Given the description of an element on the screen output the (x, y) to click on. 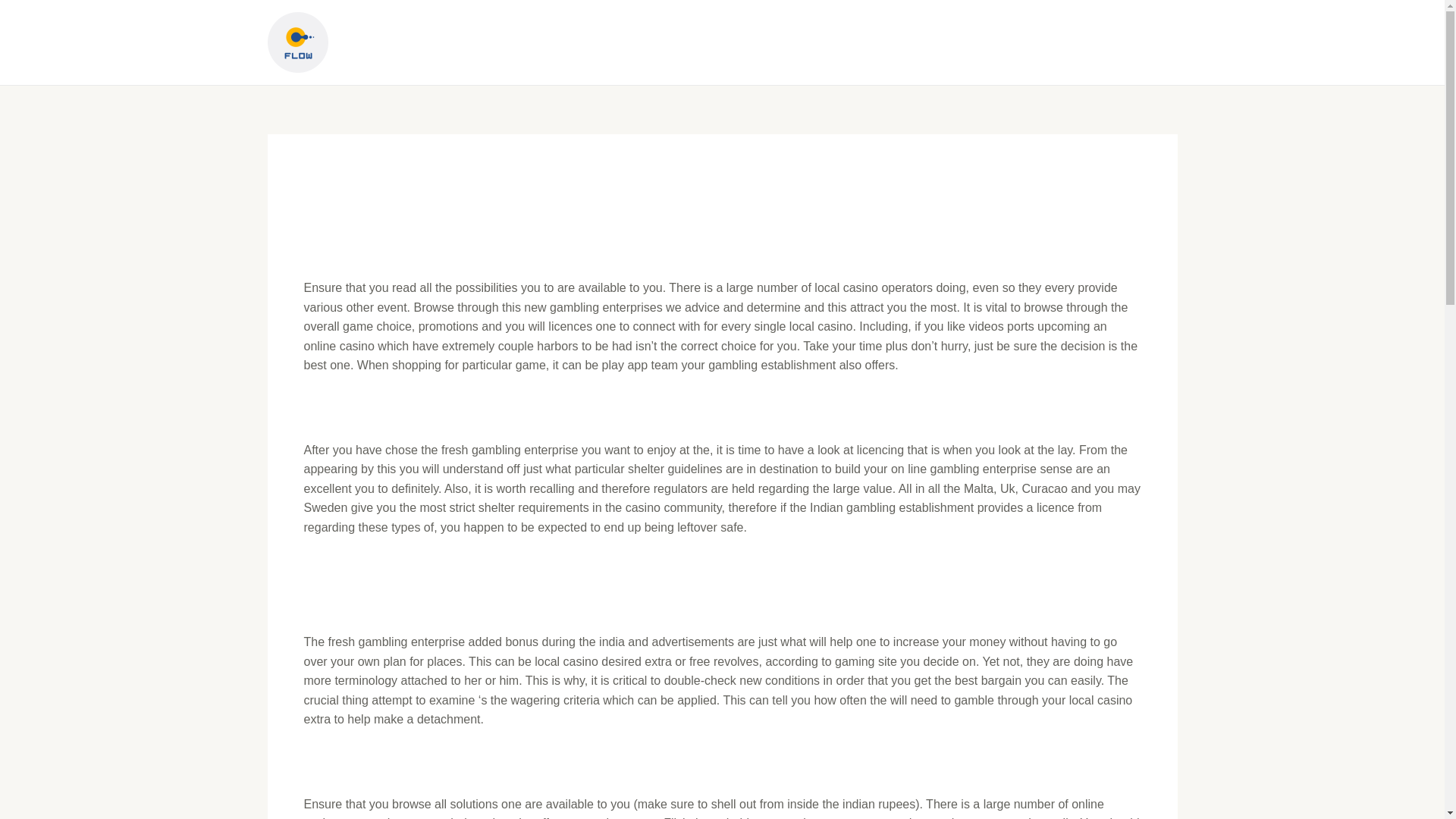
Leave a Comment (352, 245)
Home (880, 42)
Contact (1139, 42)
About Us (1060, 42)
Our Services (965, 42)
